Given the description of an element on the screen output the (x, y) to click on. 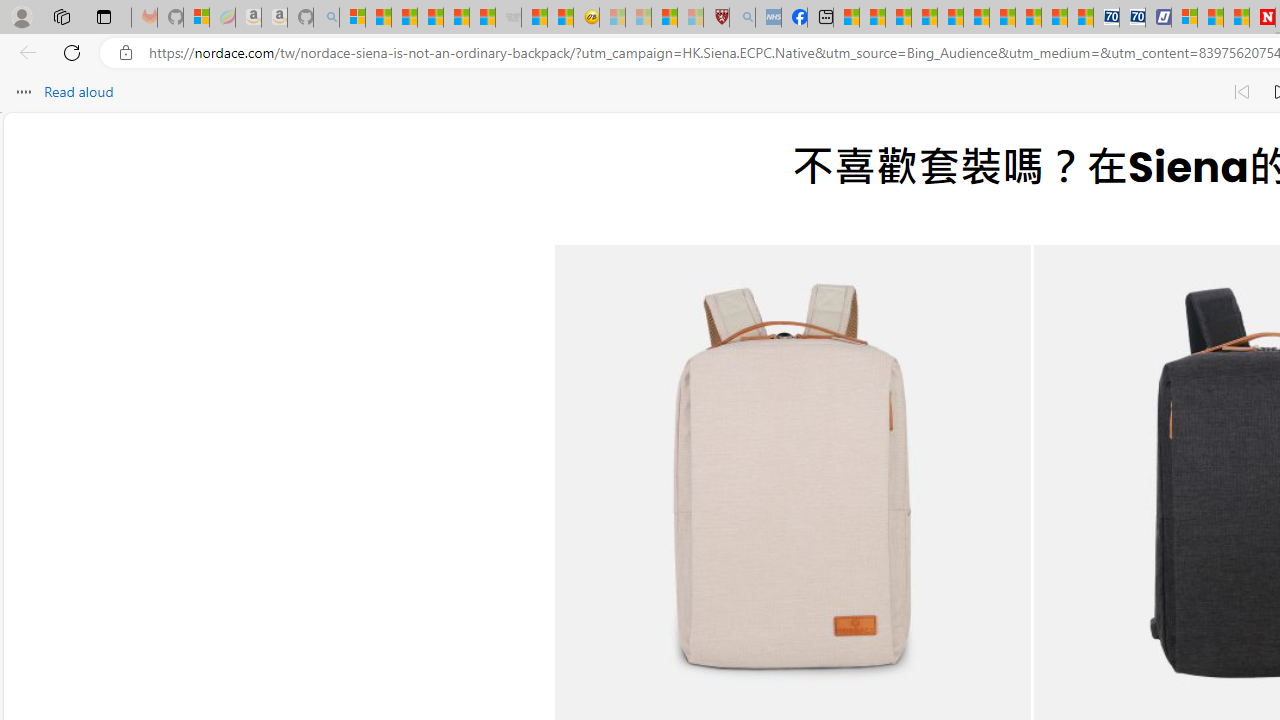
Cheap Hotels - Save70.com (1132, 17)
Climate Damage Becomes Too Severe To Reverse (923, 17)
World - MSN (898, 17)
